Given the description of an element on the screen output the (x, y) to click on. 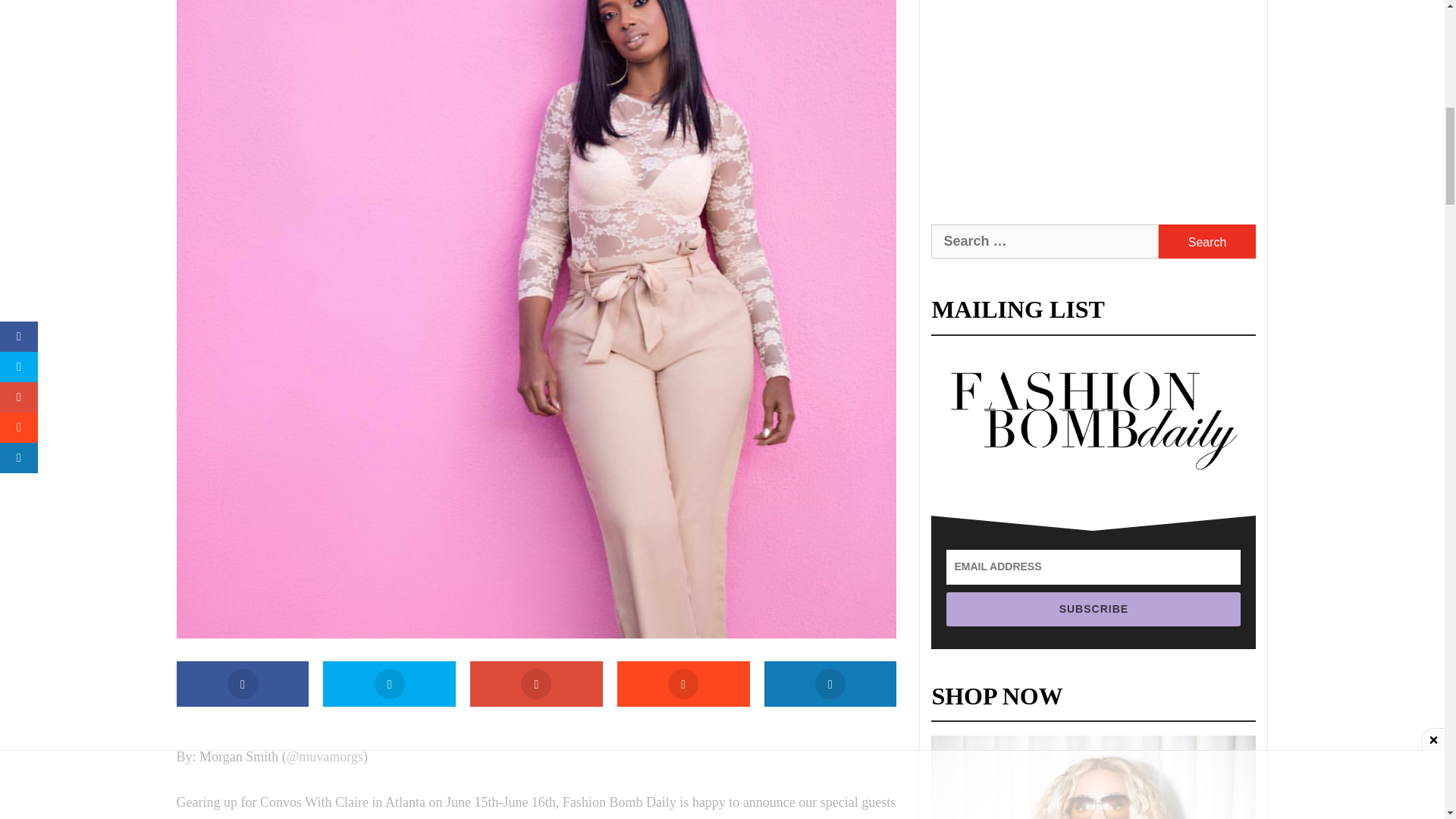
3rd party ad content (1093, 94)
Search (1206, 241)
Search (1206, 241)
